Given the description of an element on the screen output the (x, y) to click on. 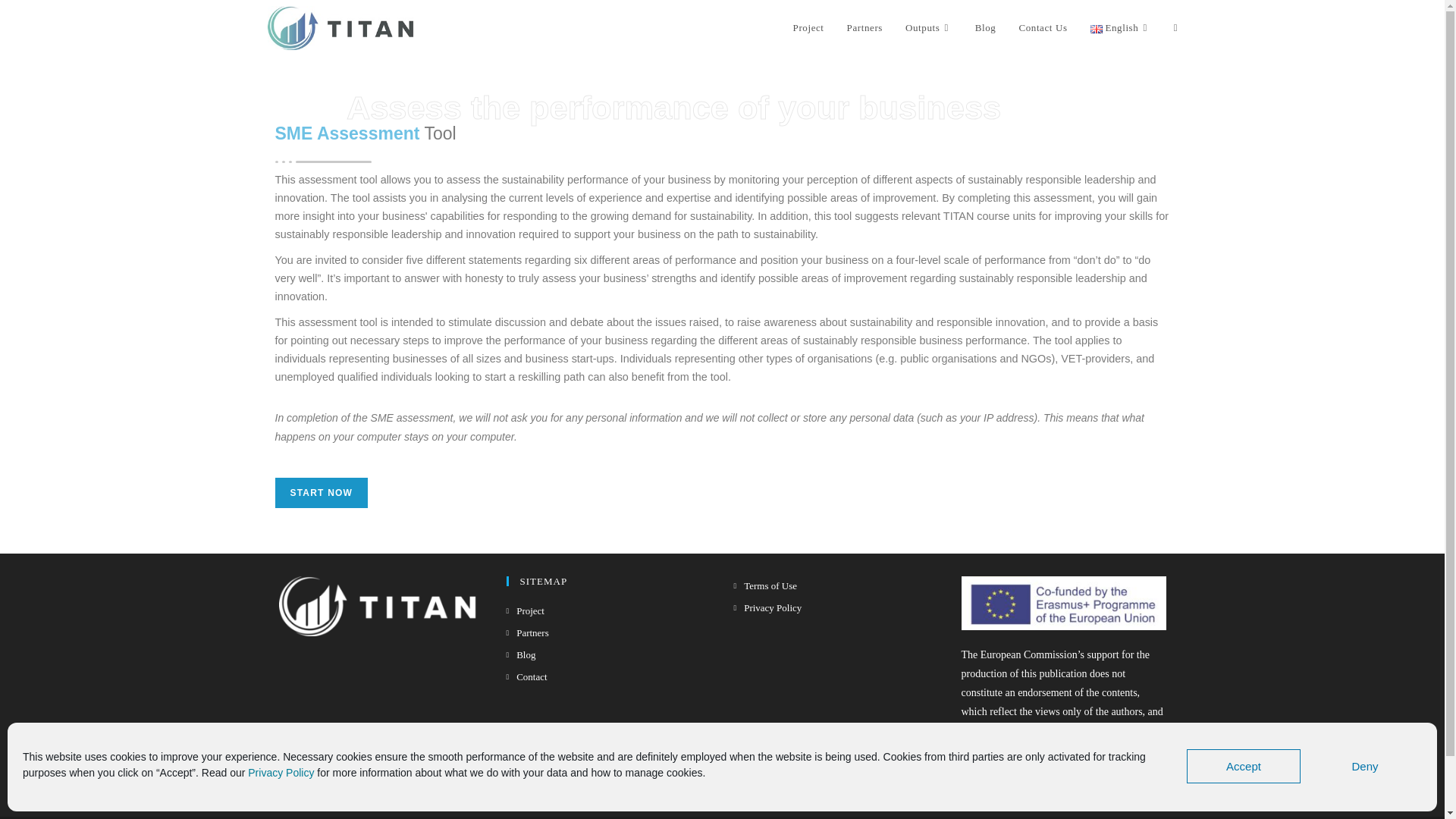
Partners (864, 28)
Outputs (928, 28)
Contact (526, 676)
START NOW (321, 492)
English (1119, 28)
Privacy Policy (767, 607)
Project (525, 610)
Project (808, 28)
Blog (520, 654)
Terms of Use (765, 585)
Partners (527, 632)
Contact Us (1042, 28)
